Given the description of an element on the screen output the (x, y) to click on. 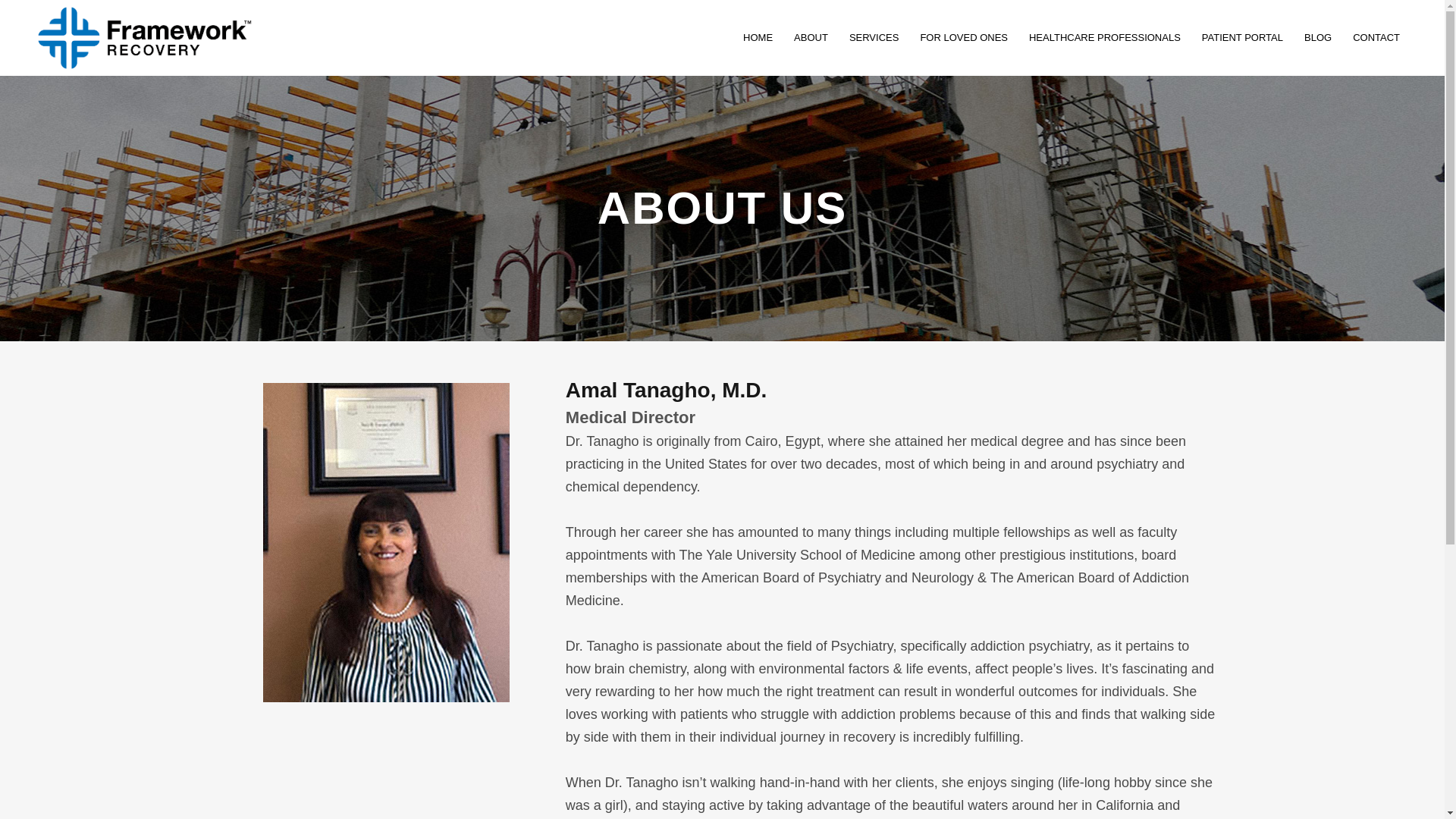
SERVICES (874, 38)
PATIENT PORTAL (1242, 38)
FOR LOVED ONES (962, 38)
CONTACT (1376, 38)
HEALTHCARE PROFESSIONALS (1104, 38)
